Given the description of an element on the screen output the (x, y) to click on. 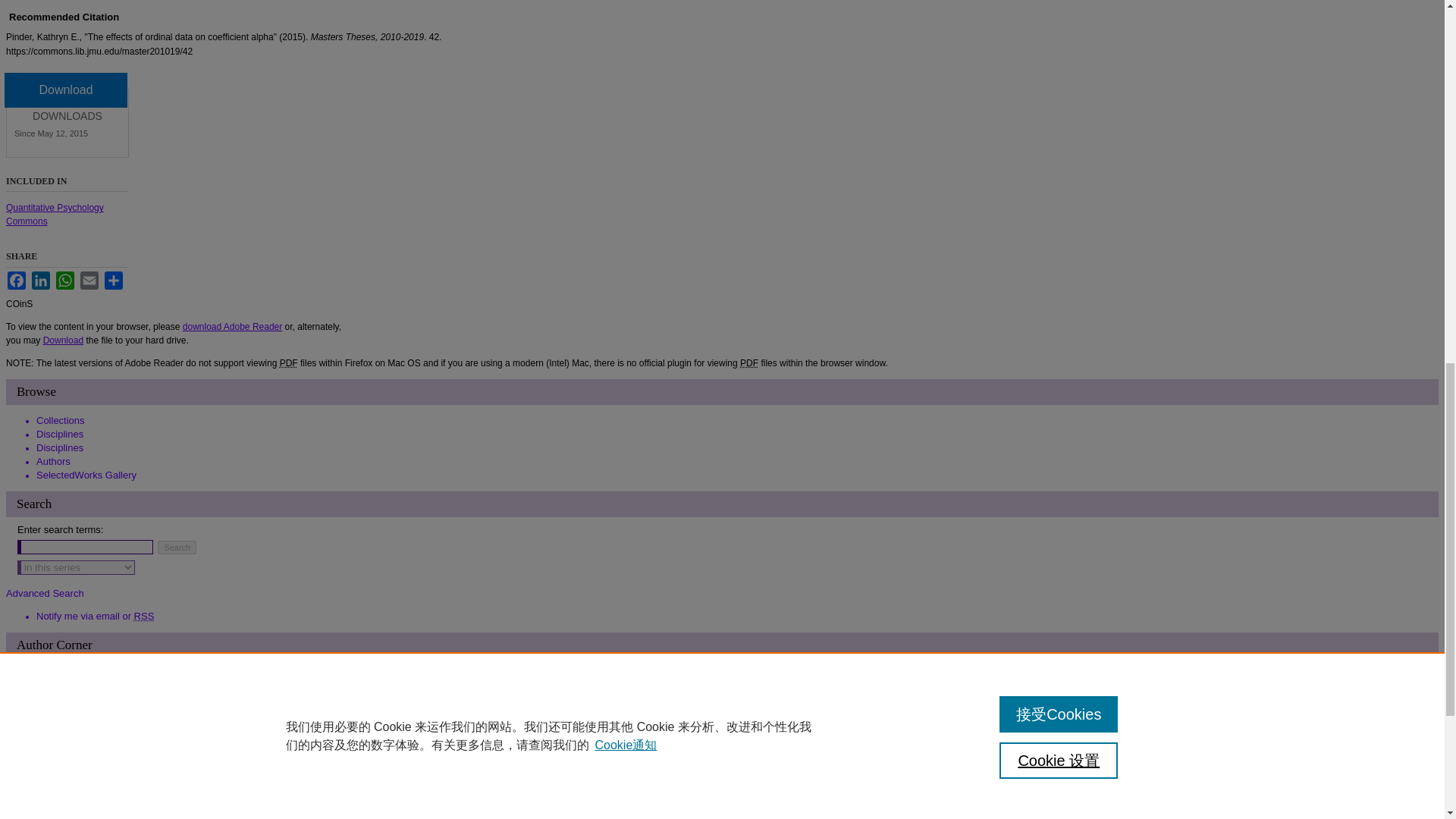
Adobe - Adobe Reader download (232, 326)
Disciplines (59, 433)
Portable Document Format (748, 362)
download Adobe Reader (232, 326)
Disciplines (59, 447)
Download (62, 339)
Facebook (16, 280)
Collections (60, 419)
Email (89, 280)
Portable Document Format (288, 362)
Quantitative Psychology Commons (54, 214)
WhatsApp (65, 280)
Search (176, 547)
Search (176, 547)
Download (66, 89)
